Given the description of an element on the screen output the (x, y) to click on. 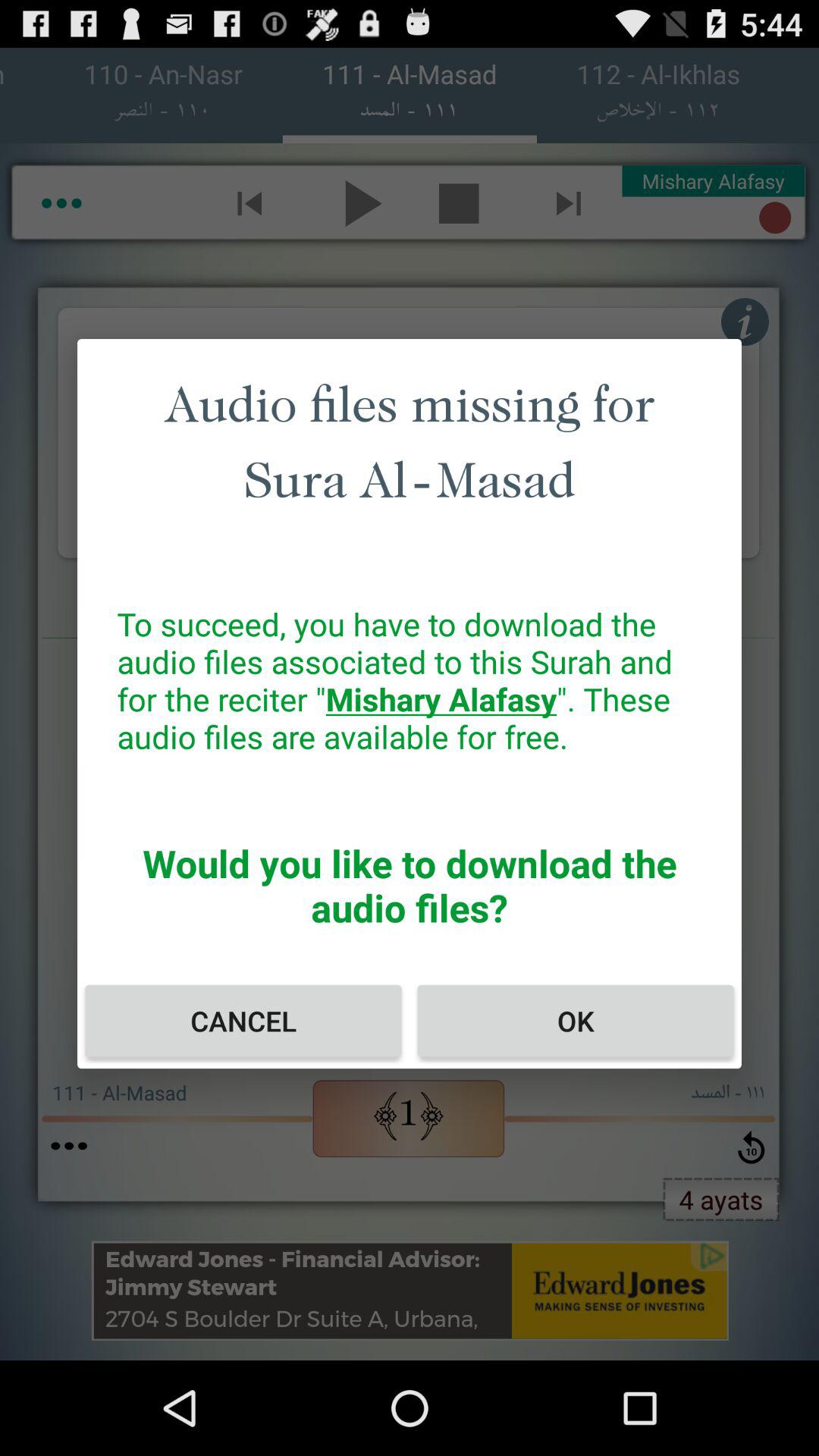
turn on ok at the bottom right corner (575, 1020)
